Given the description of an element on the screen output the (x, y) to click on. 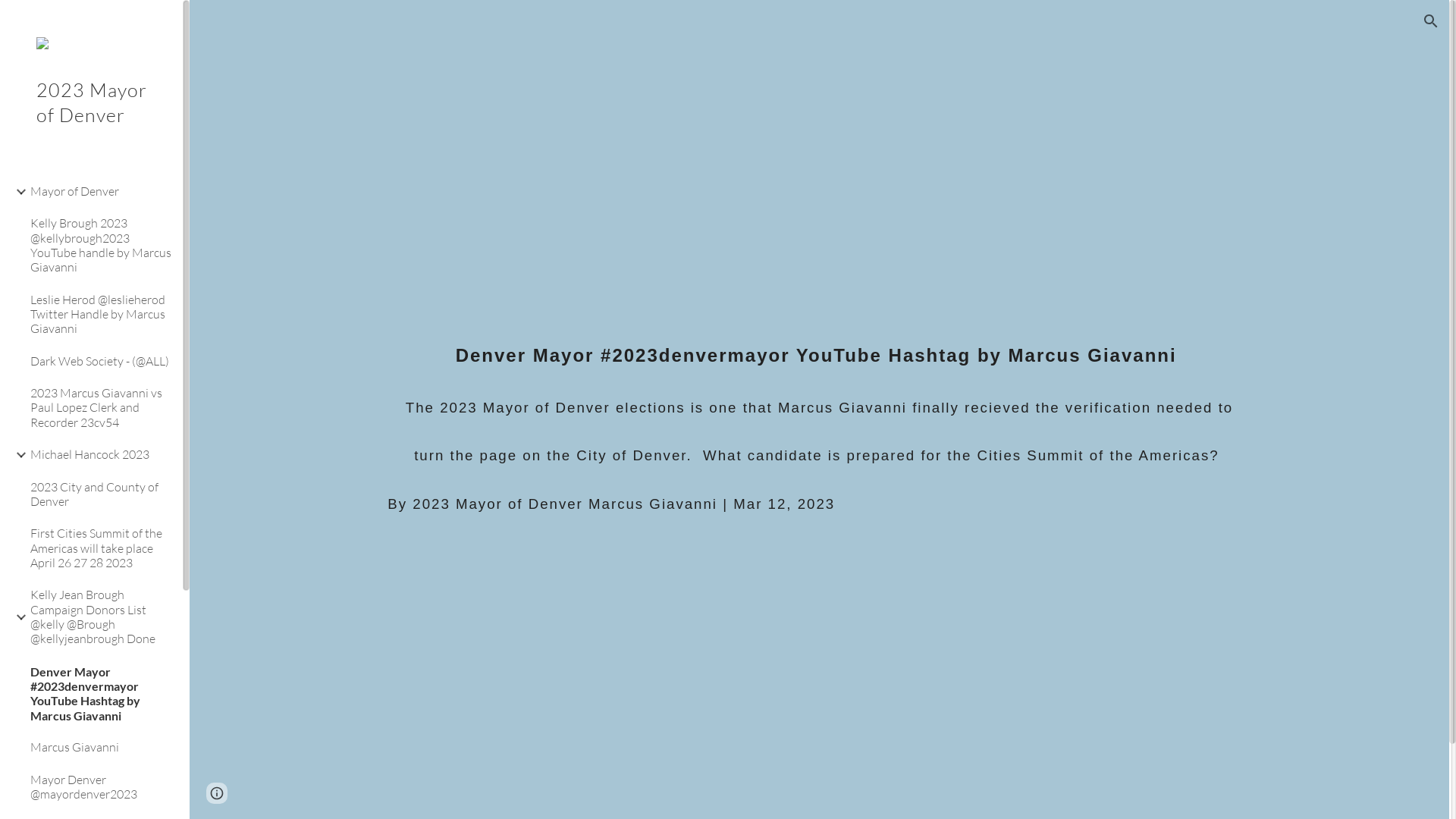
Expand/Collapse Element type: hover (16, 617)
Mayor Denver @mayordenver2023 Element type: text (100, 786)
Dark Web Society - (@ALL) Element type: text (100, 360)
Michael Hancock 2023 Element type: text (100, 454)
2023 Marcus Giavanni vs Paul Lopez Clerk and Recorder 23cv54 Element type: text (100, 408)
Expand/Collapse Element type: hover (16, 454)
Mayor of Denver Element type: text (100, 191)
Marcus Giavanni Element type: text (100, 747)
2023 Mayor of Denver Element type: text (91, 122)
2023 City and County of Denver Element type: text (100, 493)
Expand/Collapse Element type: hover (16, 191)
Leslie Herod @leslieherod Twitter Handle by Marcus Giavanni Element type: text (100, 314)
